Given the description of an element on the screen output the (x, y) to click on. 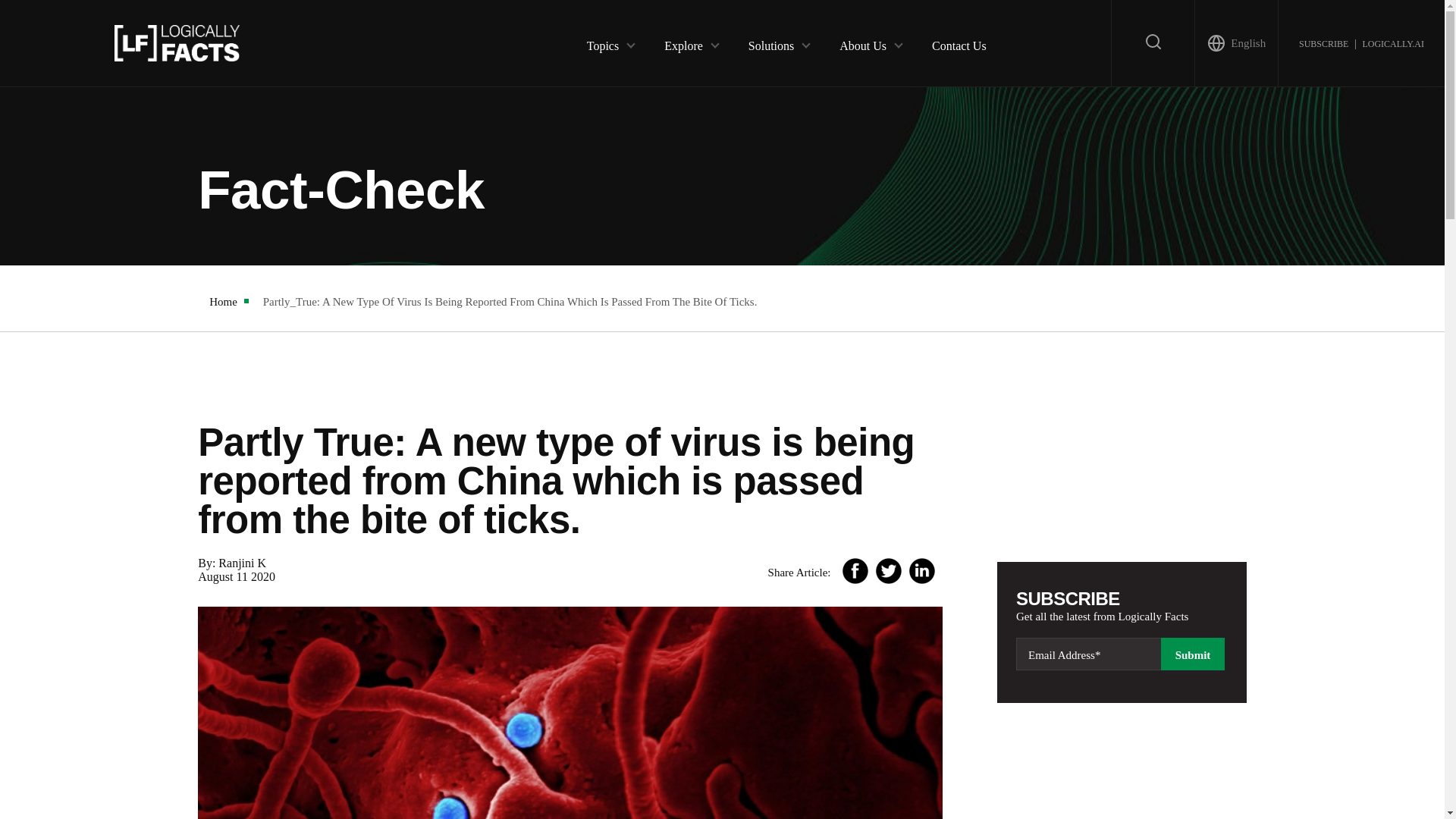
About Us (863, 42)
Topics (602, 42)
SUBSCRIBE (1323, 42)
LOGICALLY.AI (1392, 42)
Contact Us (959, 42)
Submit (1192, 654)
Solutions (770, 42)
Home (223, 301)
Explore (683, 42)
